Given the description of an element on the screen output the (x, y) to click on. 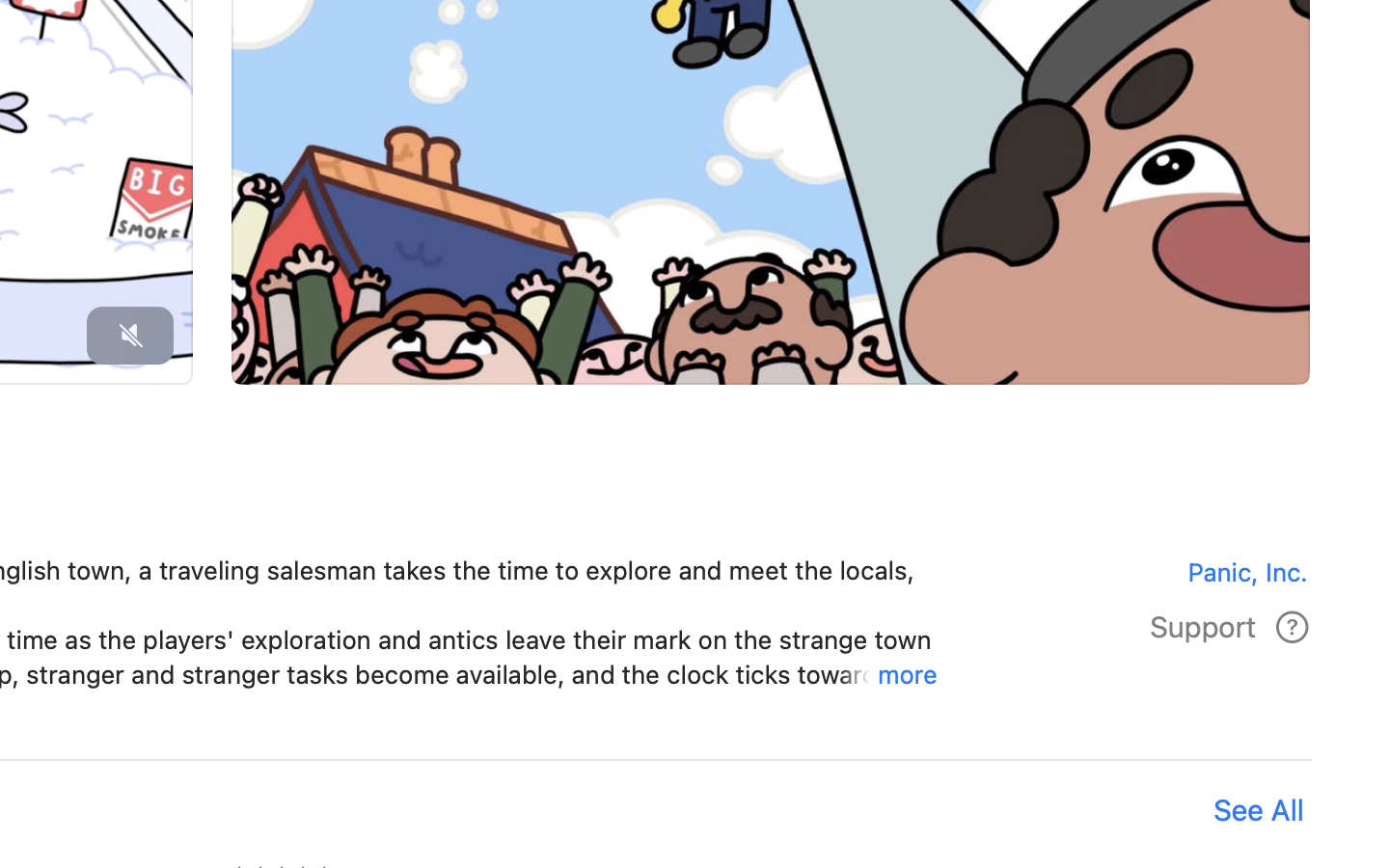
Panic, Inc. Element type: AXStaticText (1157, 570)
